Given the description of an element on the screen output the (x, y) to click on. 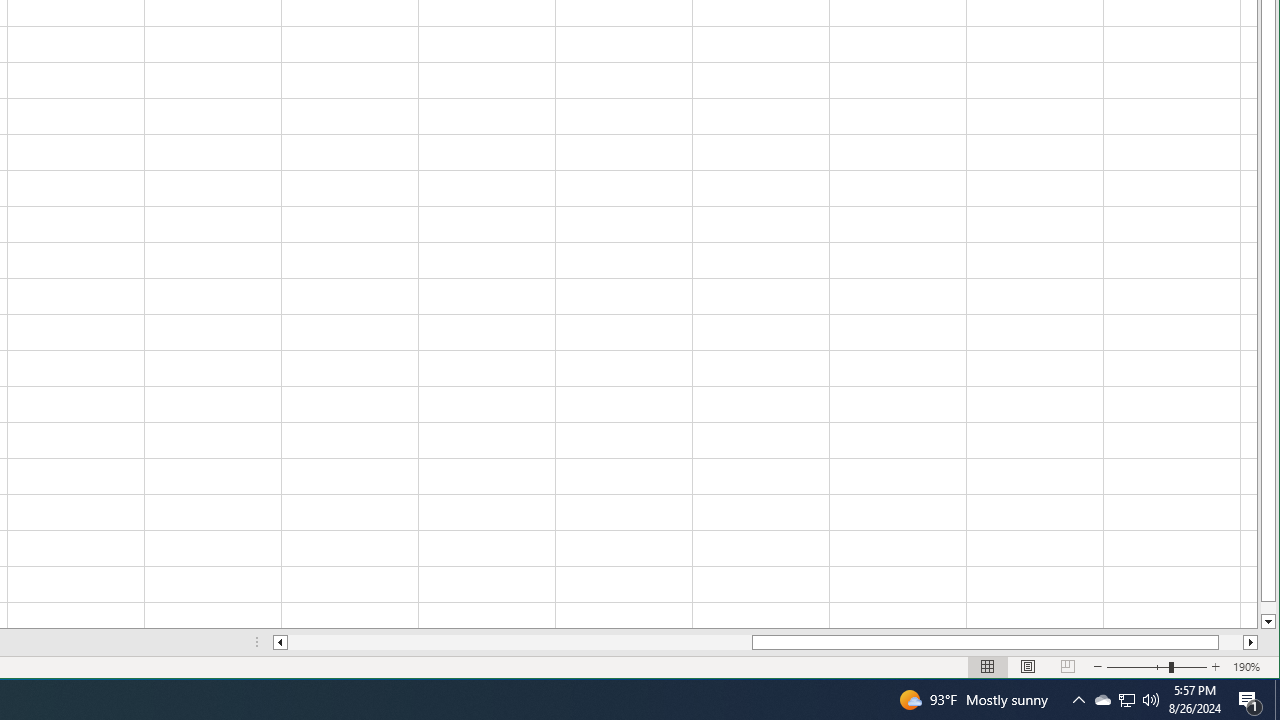
User Promoted Notification Area (1102, 699)
